Given the description of an element on the screen output the (x, y) to click on. 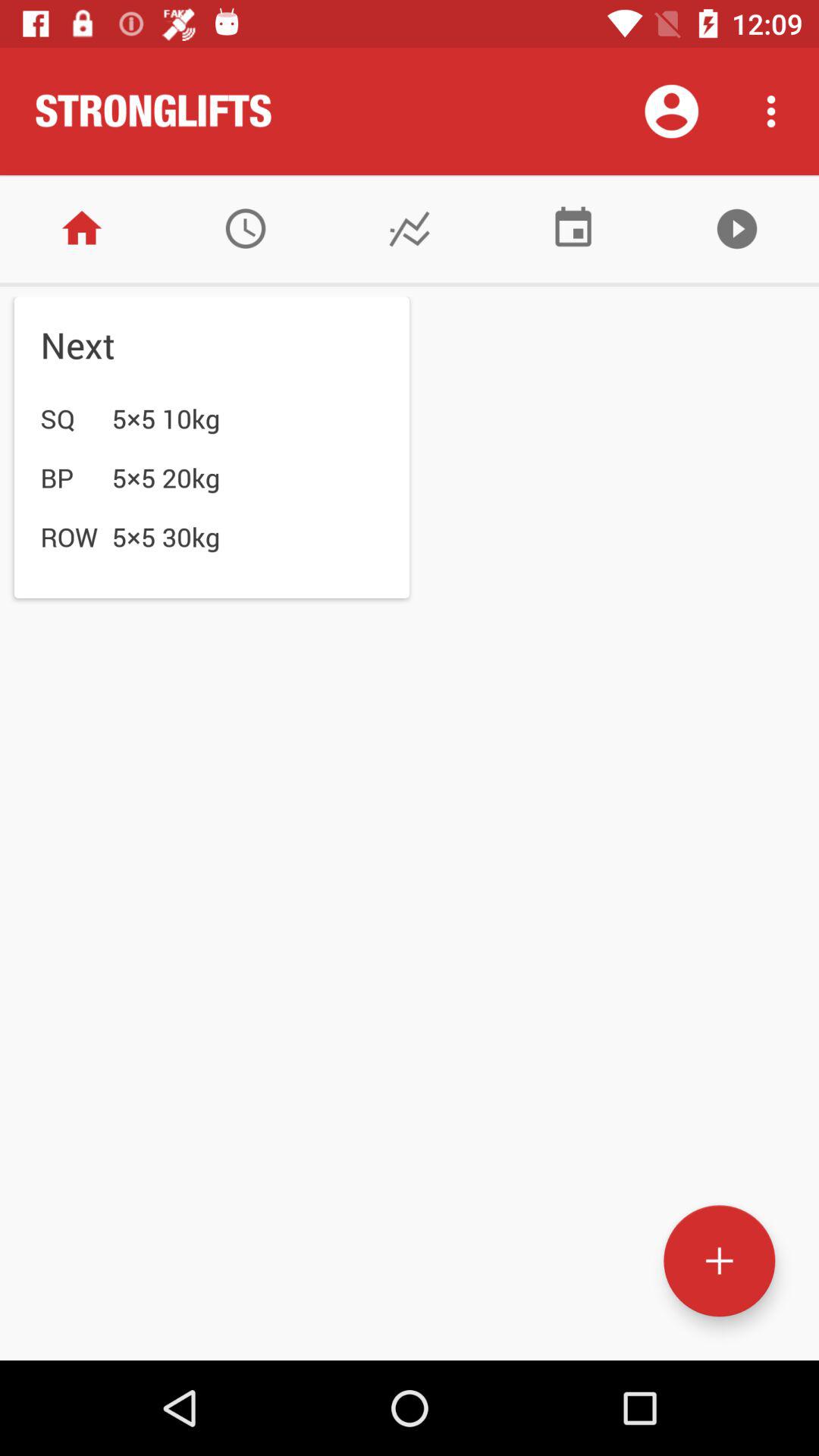
play song (737, 228)
